Given the description of an element on the screen output the (x, y) to click on. 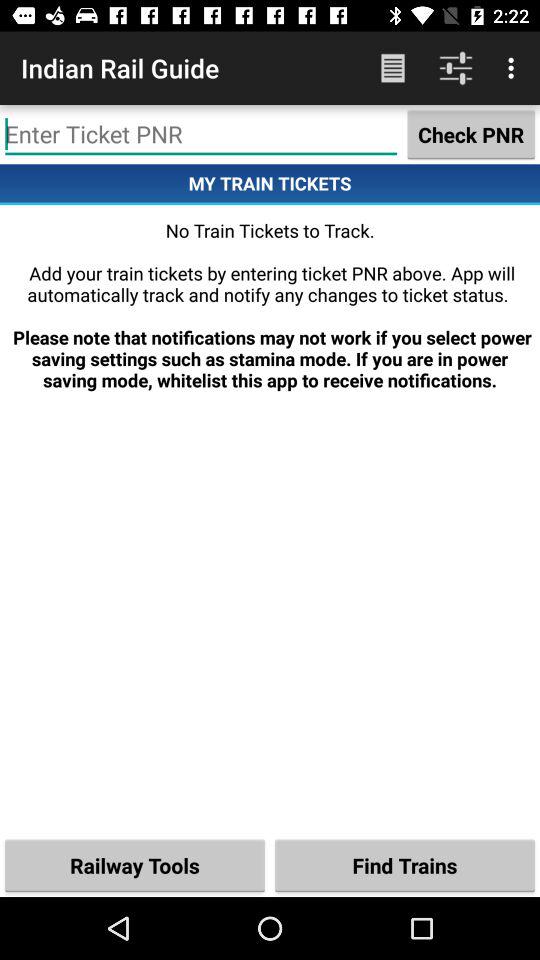
tap icon at the bottom left corner (135, 864)
